Given the description of an element on the screen output the (x, y) to click on. 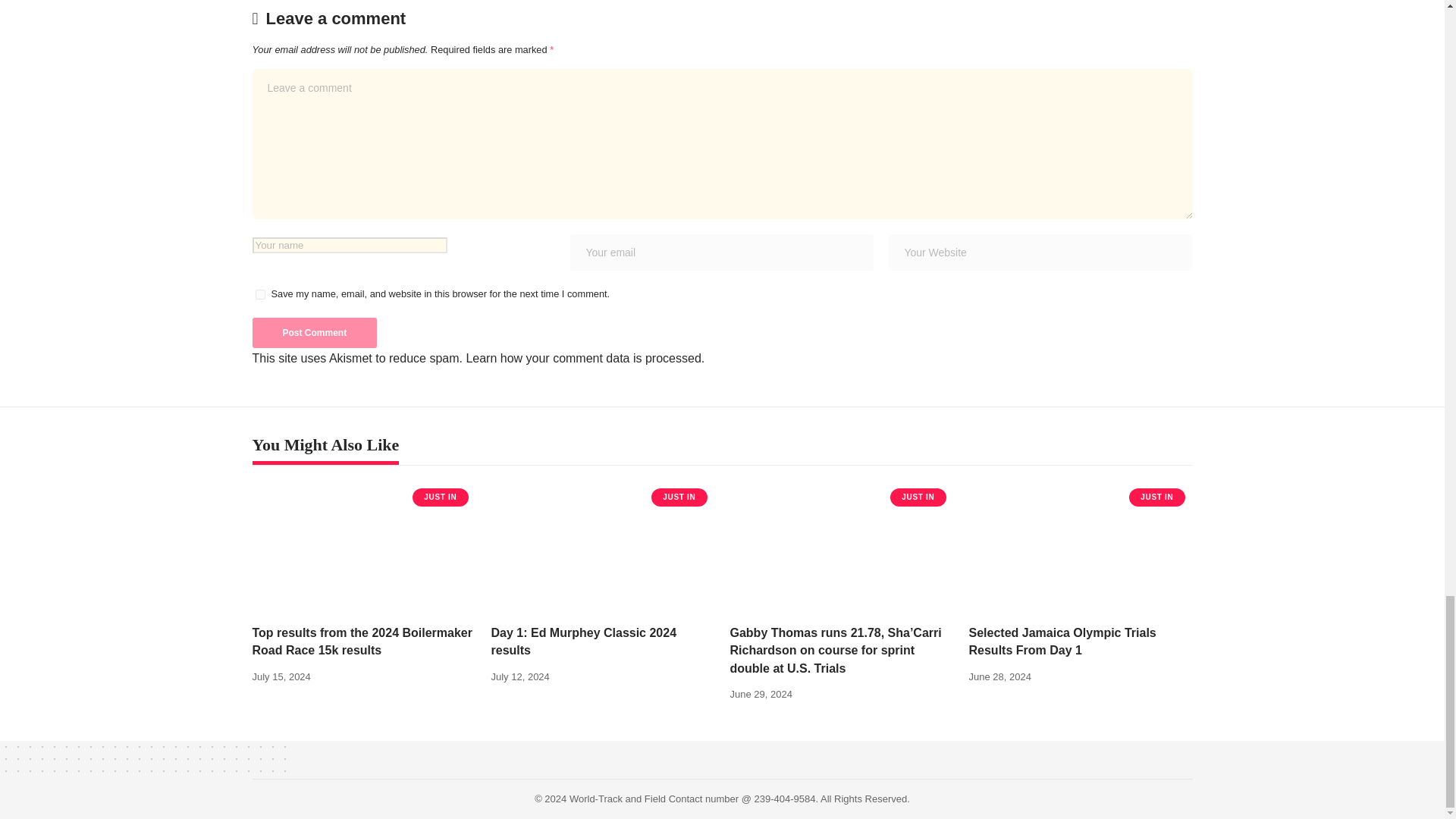
yes (259, 294)
Top results from the 2024 Boilermaker Road Race 15k results (363, 547)
Post Comment (314, 332)
Selected Jamaica Olympic Trials Results From Day 1 (1080, 547)
Day 1: Ed Murphey Classic 2024 results (603, 547)
